Given the description of an element on the screen output the (x, y) to click on. 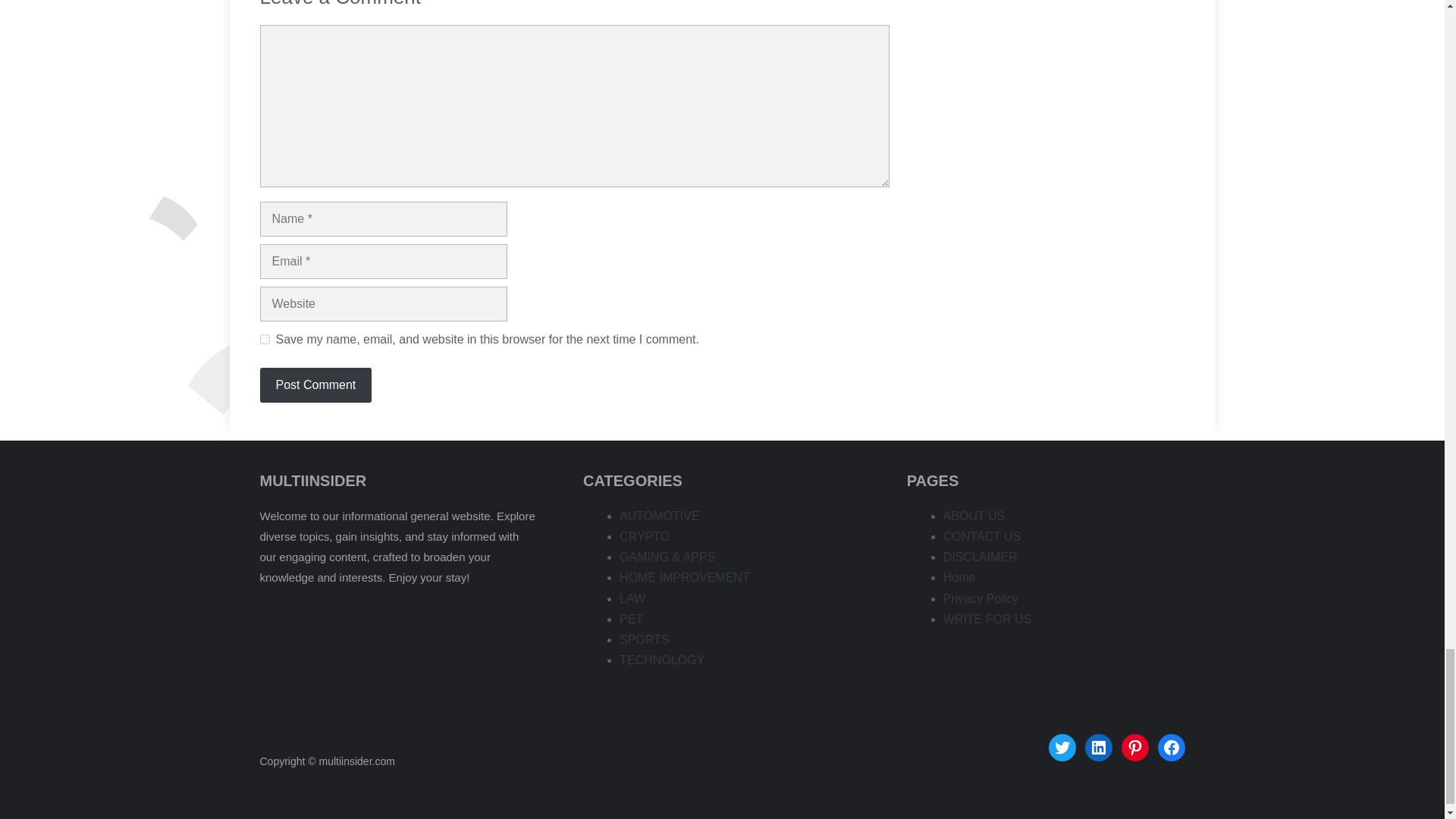
Post Comment (315, 384)
yes (264, 338)
Post Comment (315, 384)
